Given the description of an element on the screen output the (x, y) to click on. 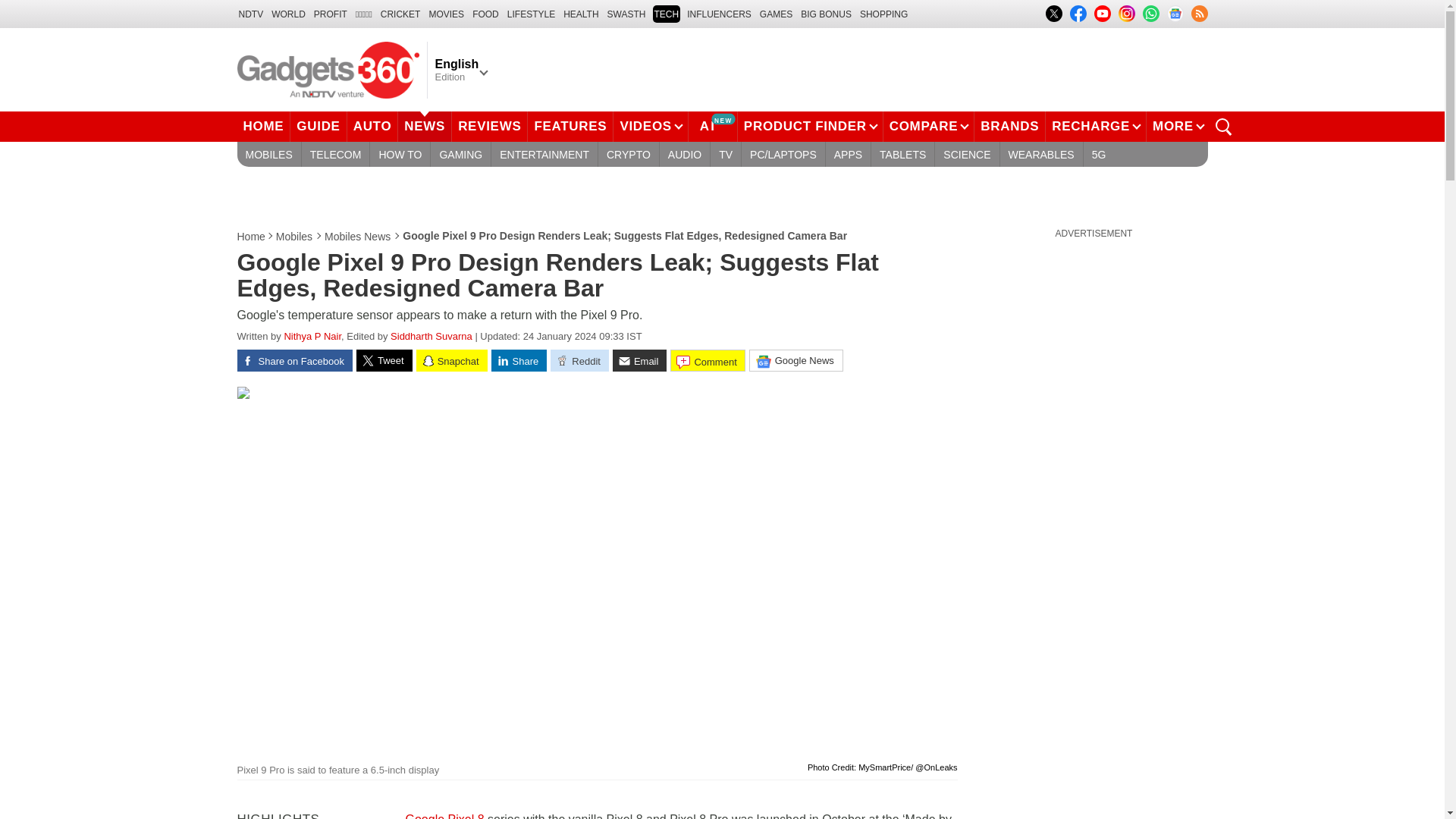
Cricket (400, 13)
HEALTH (580, 13)
HEALTH (580, 13)
INFLUENCERS (718, 13)
World (288, 13)
LIFESTYLE (530, 13)
CRICKET (400, 13)
NDTV (249, 13)
Profit (331, 13)
TECH (665, 13)
SHOPPING (883, 13)
TECH (665, 13)
FOOD (485, 13)
LIFESTYLE (530, 13)
NEWS (424, 126)
